Given the description of an element on the screen output the (x, y) to click on. 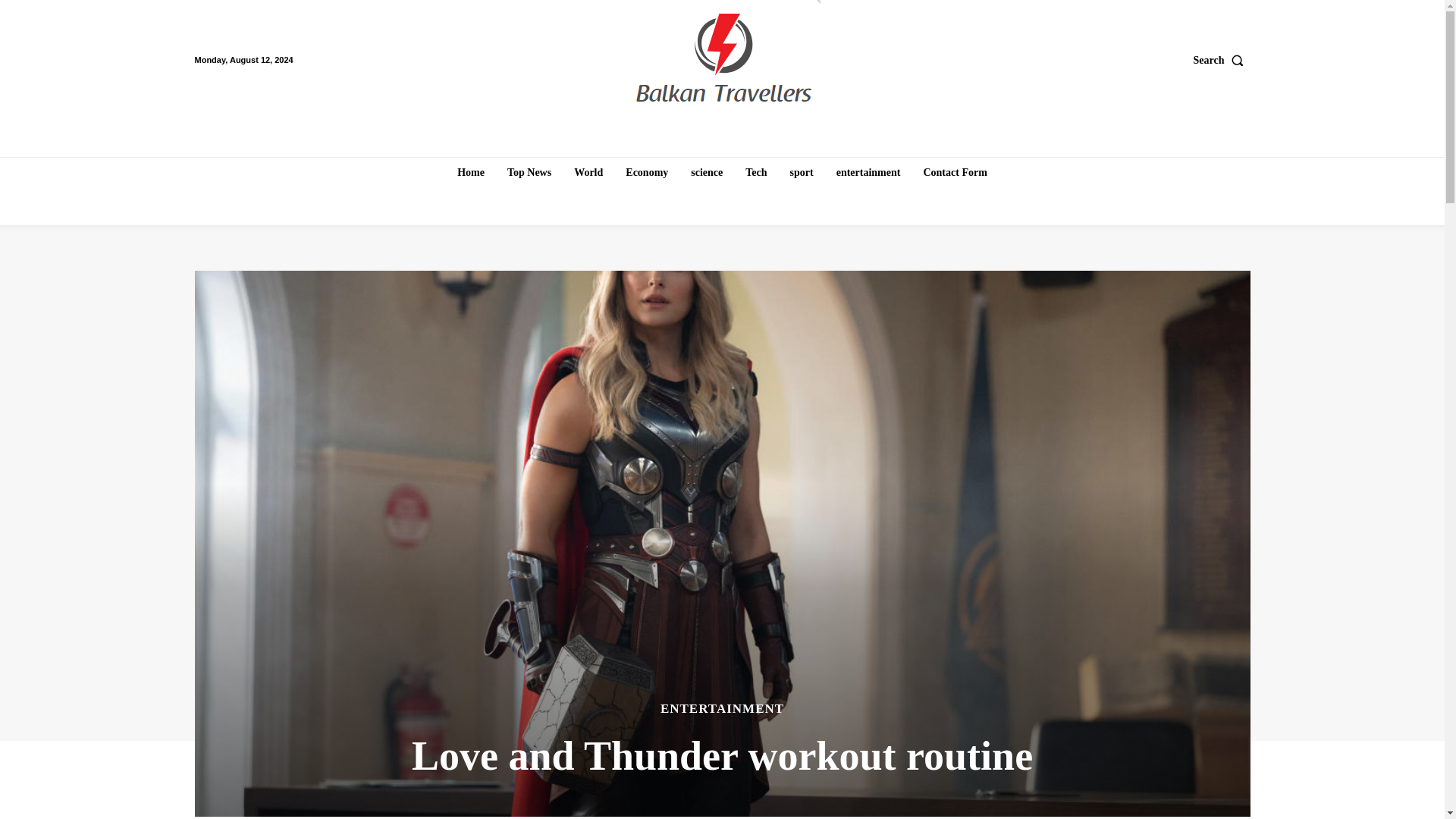
Home (470, 173)
science (706, 173)
sport (802, 173)
Contact Form (954, 173)
Economy (646, 173)
Tech (756, 173)
Search (1221, 60)
Top News (529, 173)
World (588, 173)
entertainment (868, 173)
